Given the description of an element on the screen output the (x, y) to click on. 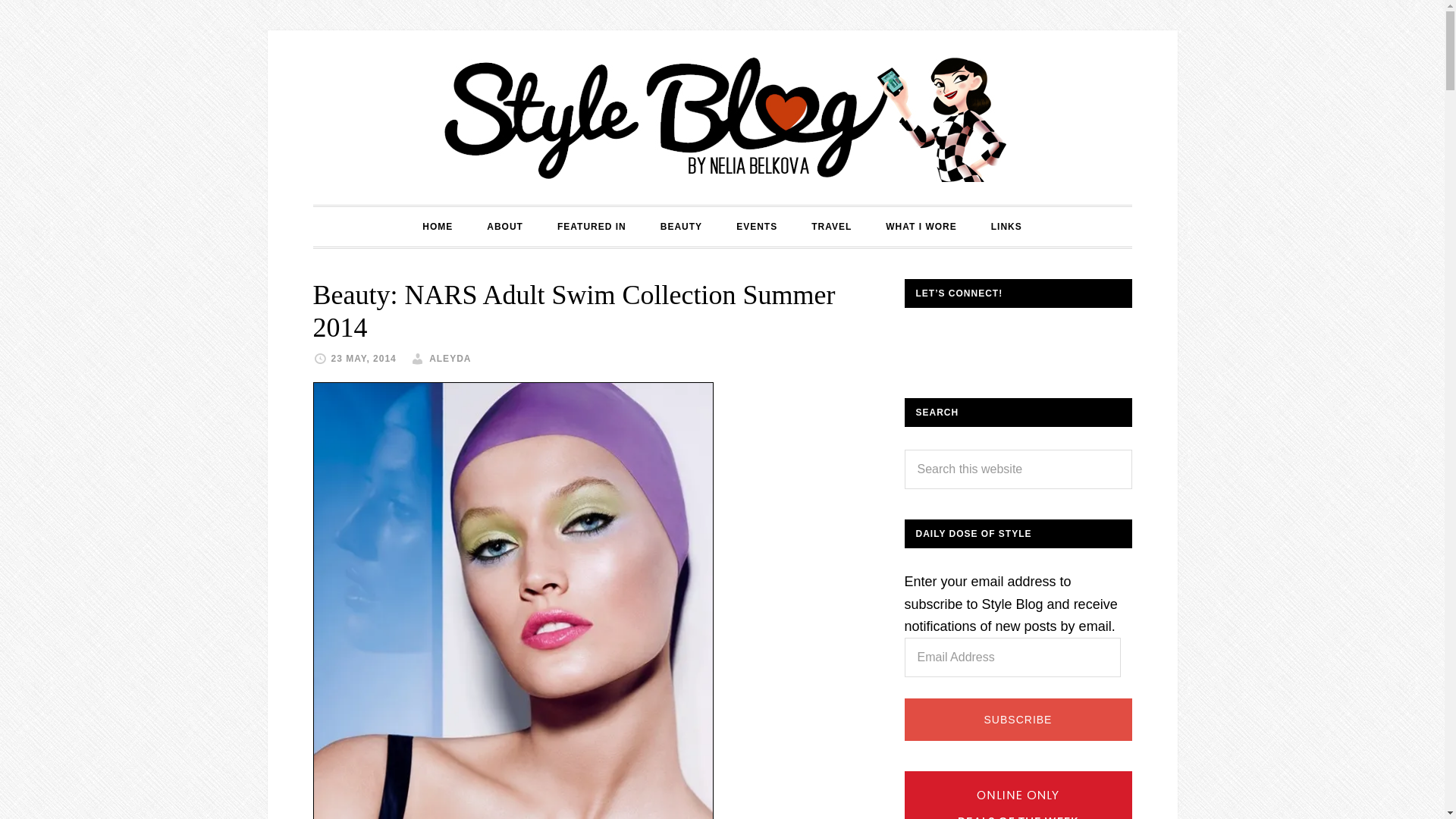
Beauty: NARS Adult Swim Collection Summer 2014 (573, 311)
EVENTS (756, 226)
ALEYDA (449, 357)
SUBSCRIBE (1017, 719)
FEATURED IN (591, 226)
WHAT I WORE (920, 226)
TRAVEL (831, 226)
BEAUTY (681, 226)
